Given the description of an element on the screen output the (x, y) to click on. 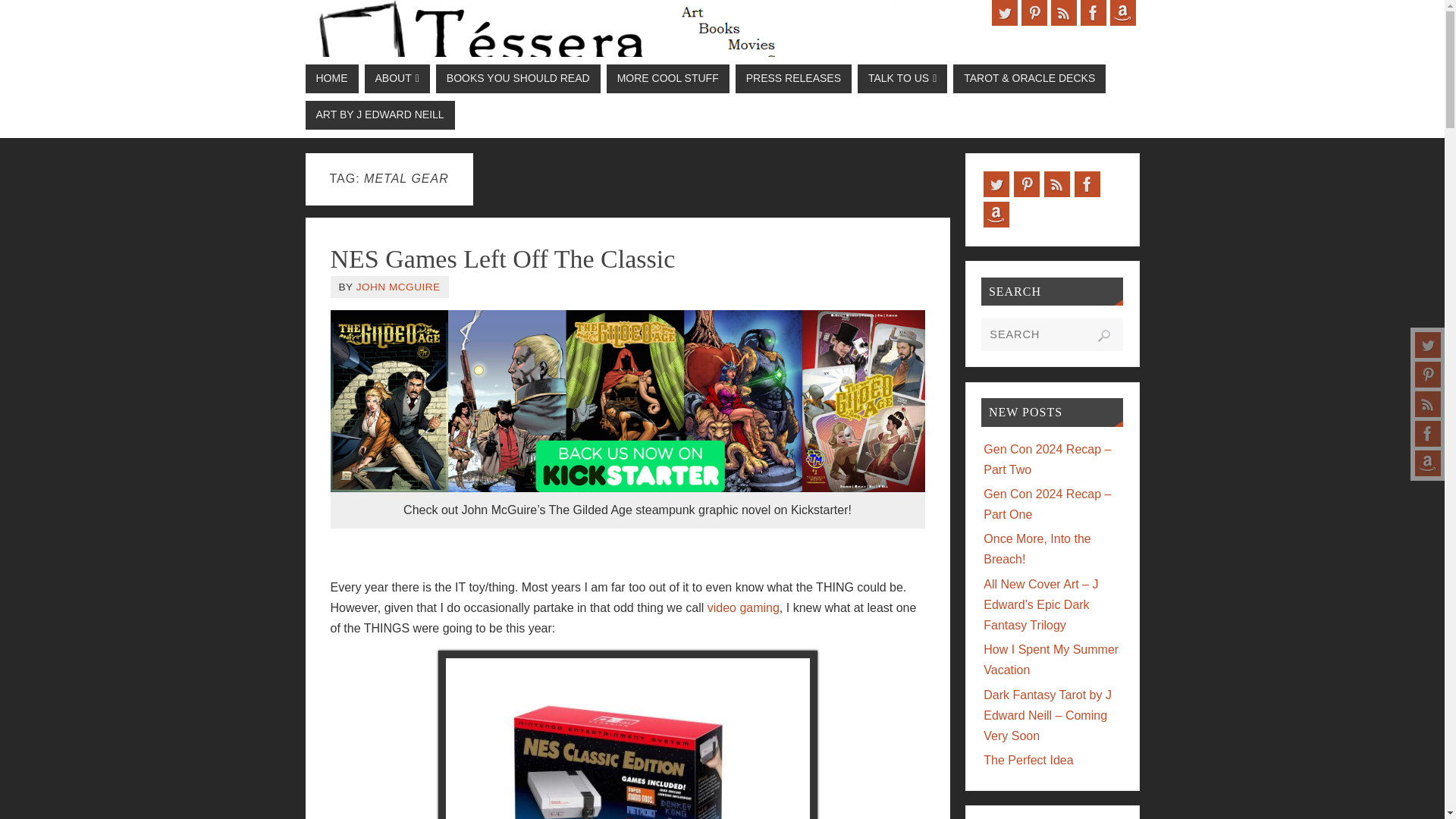
video gaming (742, 607)
Tessera Guild (721, 45)
MORE COOL STUFF (668, 78)
BOOKS YOU SHOULD READ (517, 78)
ART BY J EDWARD NEILL (379, 114)
TALK TO US (902, 78)
HOME (331, 78)
Amazon (1122, 12)
Pinterest (1033, 12)
NES Games Left Off The Classic (502, 258)
